Given the description of an element on the screen output the (x, y) to click on. 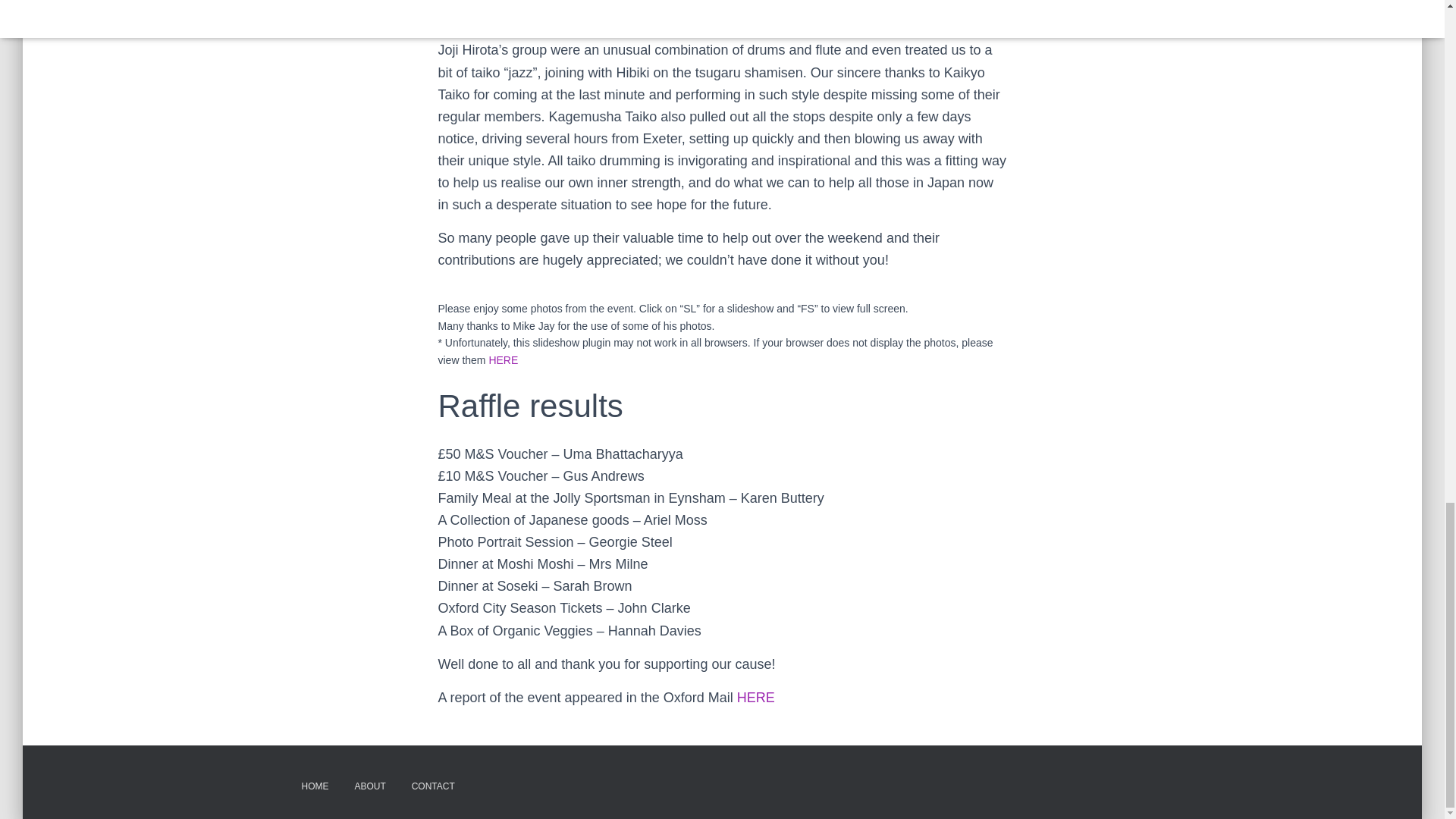
HOME (314, 786)
HERE (755, 697)
ABOUT (369, 786)
YouTube video player (715, 10)
YouTube video player (529, 10)
HERE (502, 359)
CONTACT (432, 786)
